Given the description of an element on the screen output the (x, y) to click on. 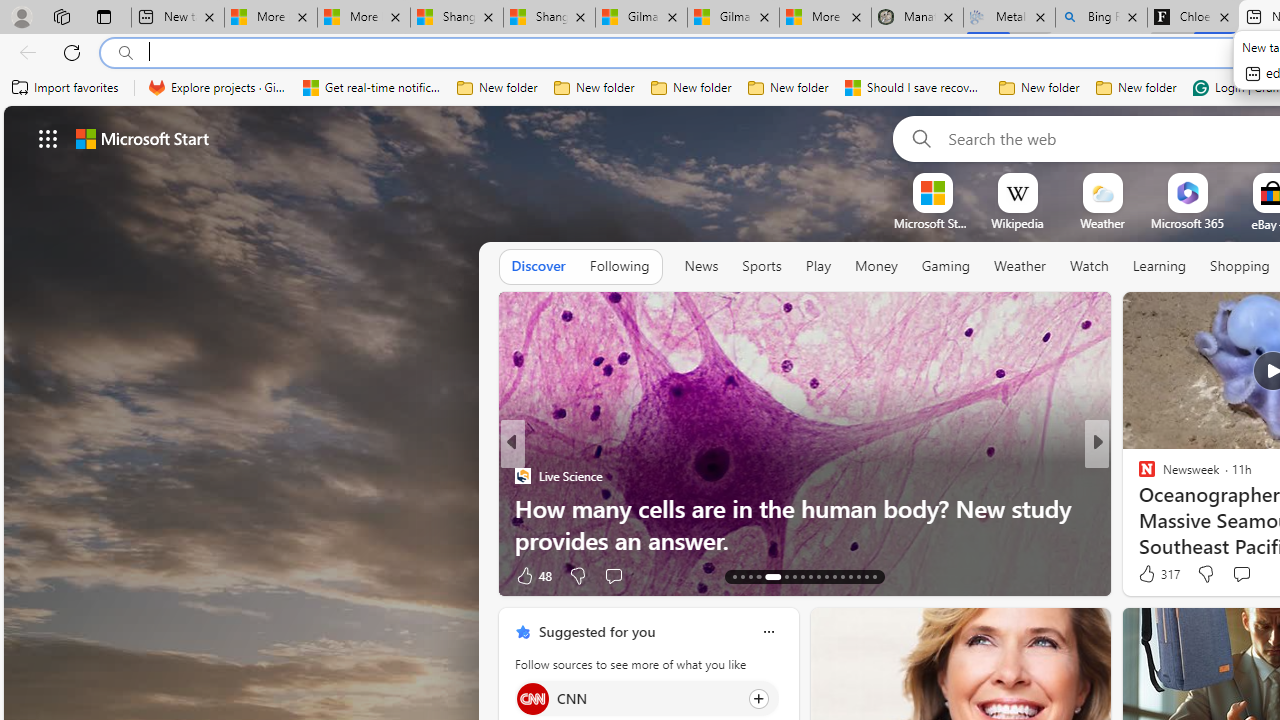
Sports (761, 267)
955 Like (1151, 574)
Bing Real Estate - Home sales and rental listings (1101, 17)
2 Like (1145, 574)
Money (876, 267)
AutomationID: tab-18 (786, 576)
View comments 14 Comment (1244, 574)
Watch (1089, 267)
AutomationID: tab-25 (842, 576)
7 Like (1145, 574)
View comments 14 Comment (1234, 575)
